Given the description of an element on the screen output the (x, y) to click on. 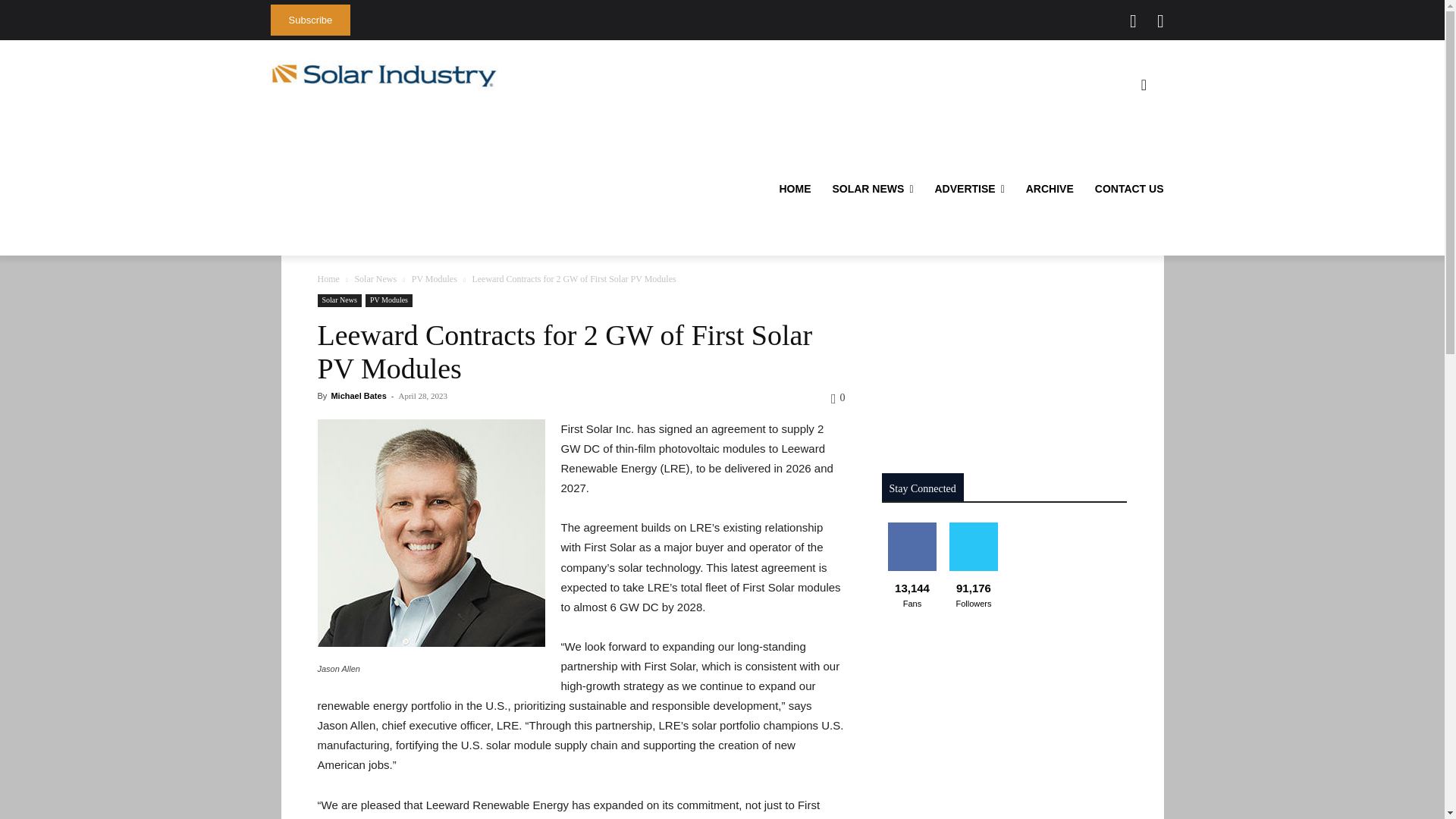
Subscribe (309, 20)
HOME (794, 188)
Subscribe (309, 20)
Twitter (1133, 21)
Rss (1160, 21)
Solar Industry (383, 75)
